Given the description of an element on the screen output the (x, y) to click on. 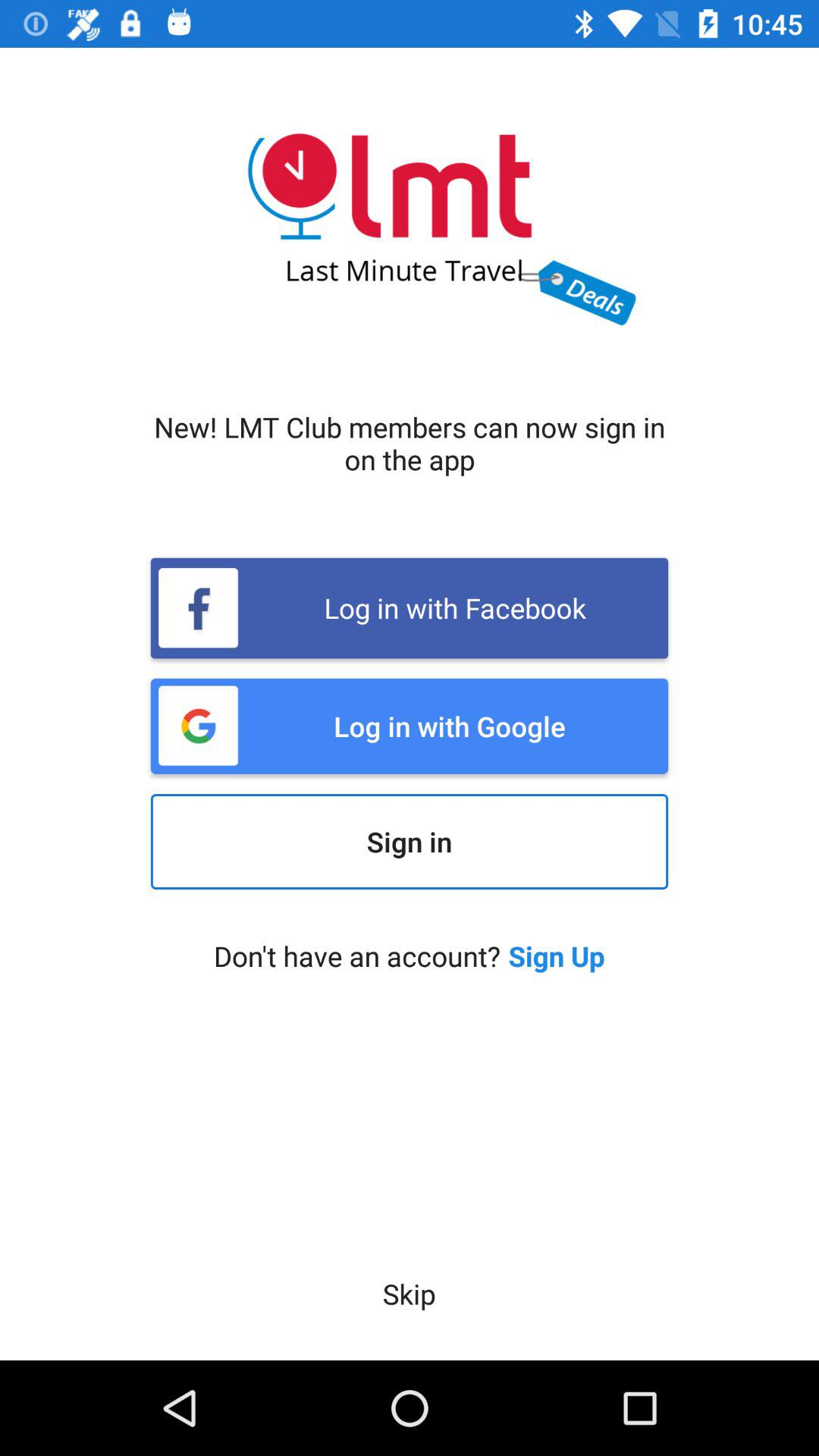
swipe until skip item (408, 1293)
